Given the description of an element on the screen output the (x, y) to click on. 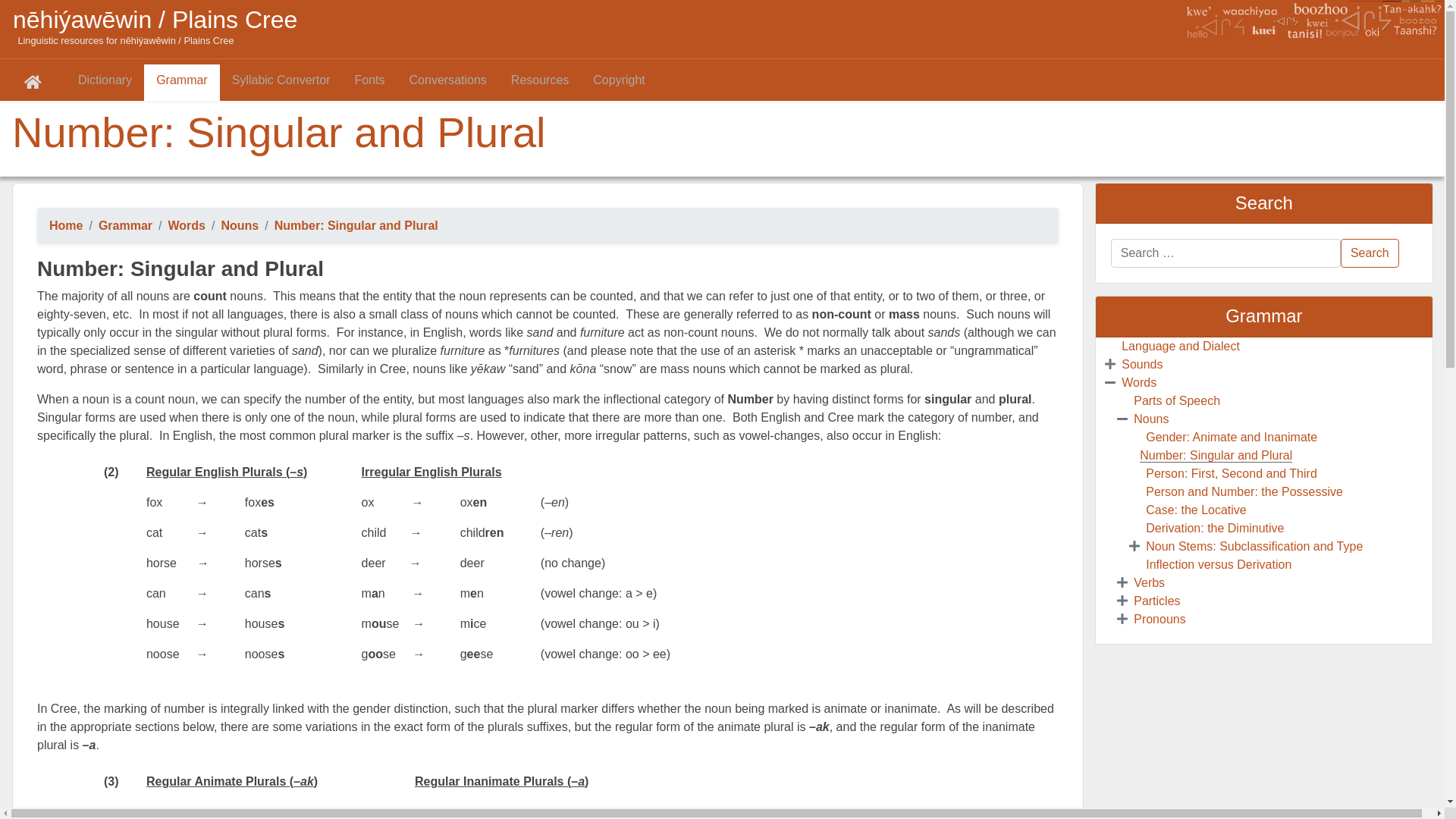
Person and Number: the Possessive Element type: text (1244, 491)
Fonts Element type: text (369, 82)
Particles Element type: text (1156, 600)
Syllabic Convertor Element type: text (280, 82)
Resources Element type: text (539, 82)
Verbs Element type: text (1148, 582)
Conversations Element type: text (447, 82)
Sounds Element type: text (1141, 363)
Copyright Element type: text (618, 82)
Number: Singular and Plural Element type: text (1215, 455)
Language and Dialect Element type: text (1180, 345)
Search Element type: text (1369, 252)
Home Element type: text (65, 225)
Gender: Animate and Inanimate Element type: text (1231, 436)
Person: First, Second and Third Element type: text (1231, 473)
Noun Stems: Subclassification and Type Element type: text (1253, 545)
Parts of Speech Element type: text (1176, 400)
Pronouns Element type: text (1159, 618)
Case: the Locative Element type: text (1195, 509)
Nouns Element type: text (1150, 418)
Nouns Element type: text (239, 225)
Words Element type: text (1138, 382)
Dictionary Element type: text (104, 82)
Words Element type: text (186, 225)
Grammar Element type: text (181, 82)
Number: Singular and Plural Element type: text (356, 225)
Grammar Element type: text (125, 225)
Inflection versus Derivation Element type: text (1218, 564)
Derivation: the Diminutive Element type: text (1214, 527)
